Given the description of an element on the screen output the (x, y) to click on. 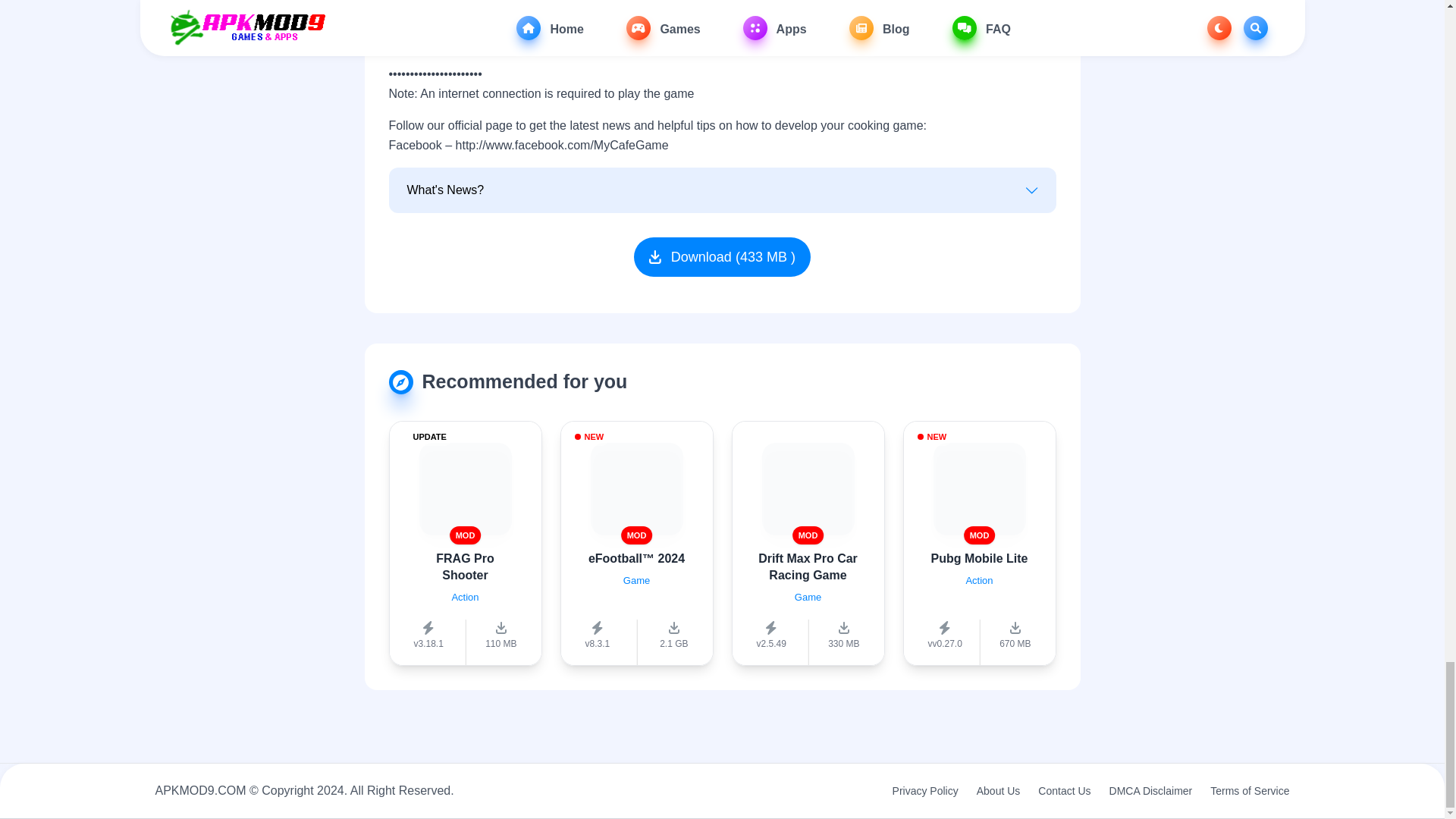
FRAG Pro Shooter (464, 566)
Pubg Mobile Lite (979, 558)
What's News? (721, 189)
Drift Max Pro Car Racing Game (807, 566)
Privacy Policy (925, 790)
